Given the description of an element on the screen output the (x, y) to click on. 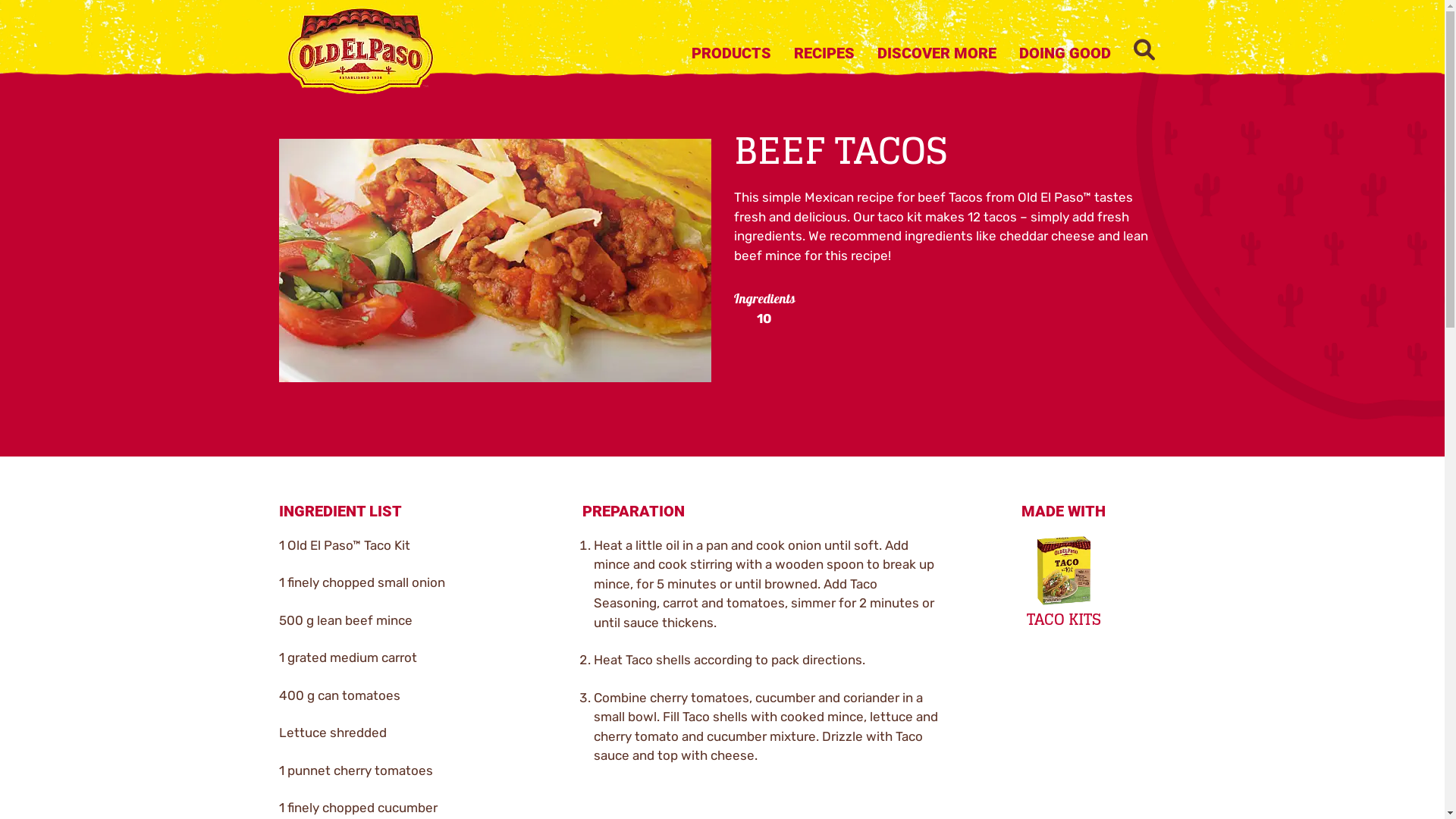
TACO KITS Element type: text (1063, 582)
SEARCH Element type: text (1144, 51)
RECIPES Element type: text (824, 54)
DISCOVER MORE Element type: text (936, 54)
PRODUCTS Element type: text (730, 54)
DOING GOOD Element type: text (1064, 54)
